Given the description of an element on the screen output the (x, y) to click on. 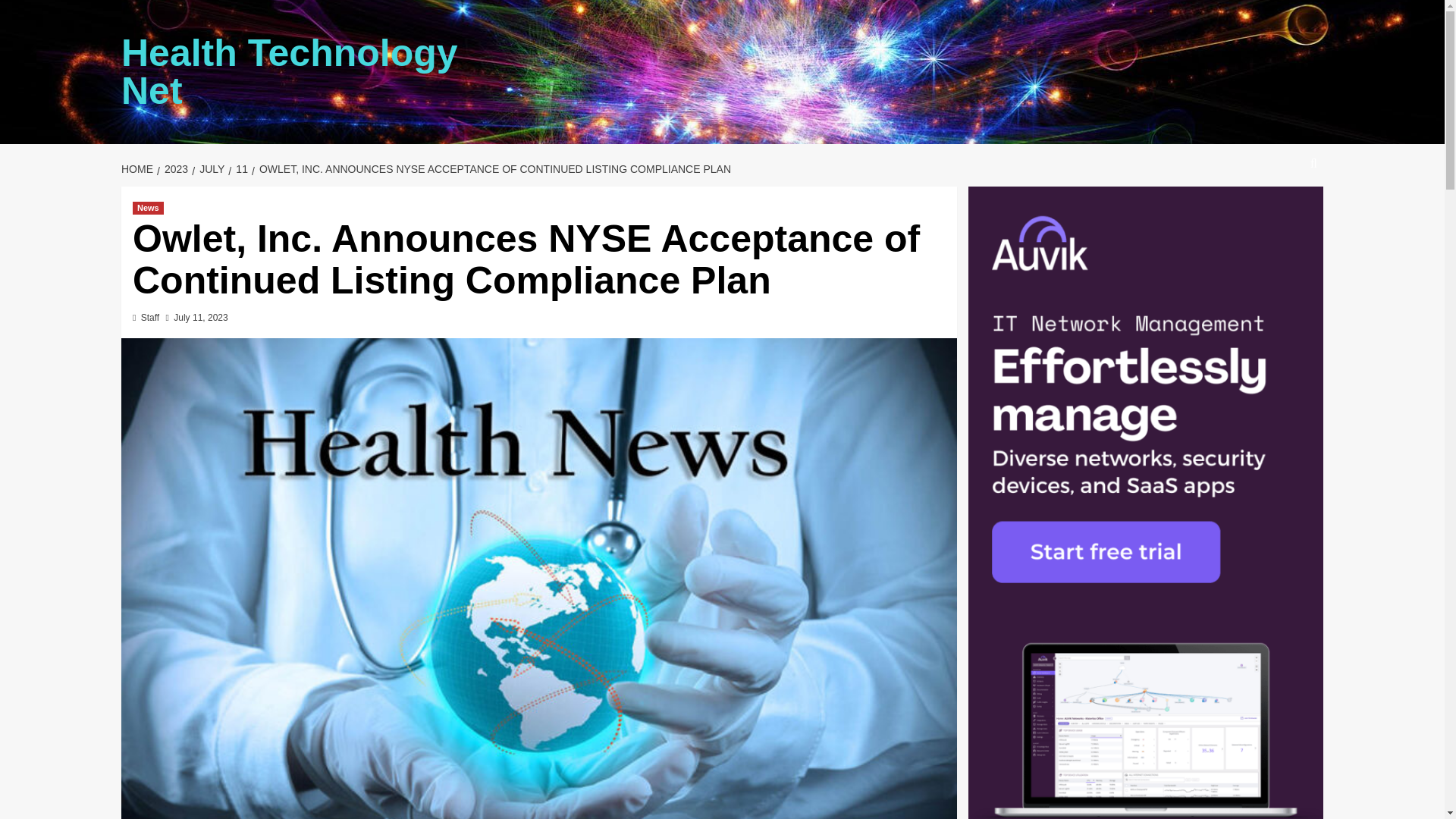
2023 (174, 168)
11 (239, 168)
HOME (138, 168)
July 11, 2023 (200, 317)
News (147, 207)
Health Technology Net (289, 71)
JULY (210, 168)
Search (1278, 209)
Staff (149, 317)
